Given the description of an element on the screen output the (x, y) to click on. 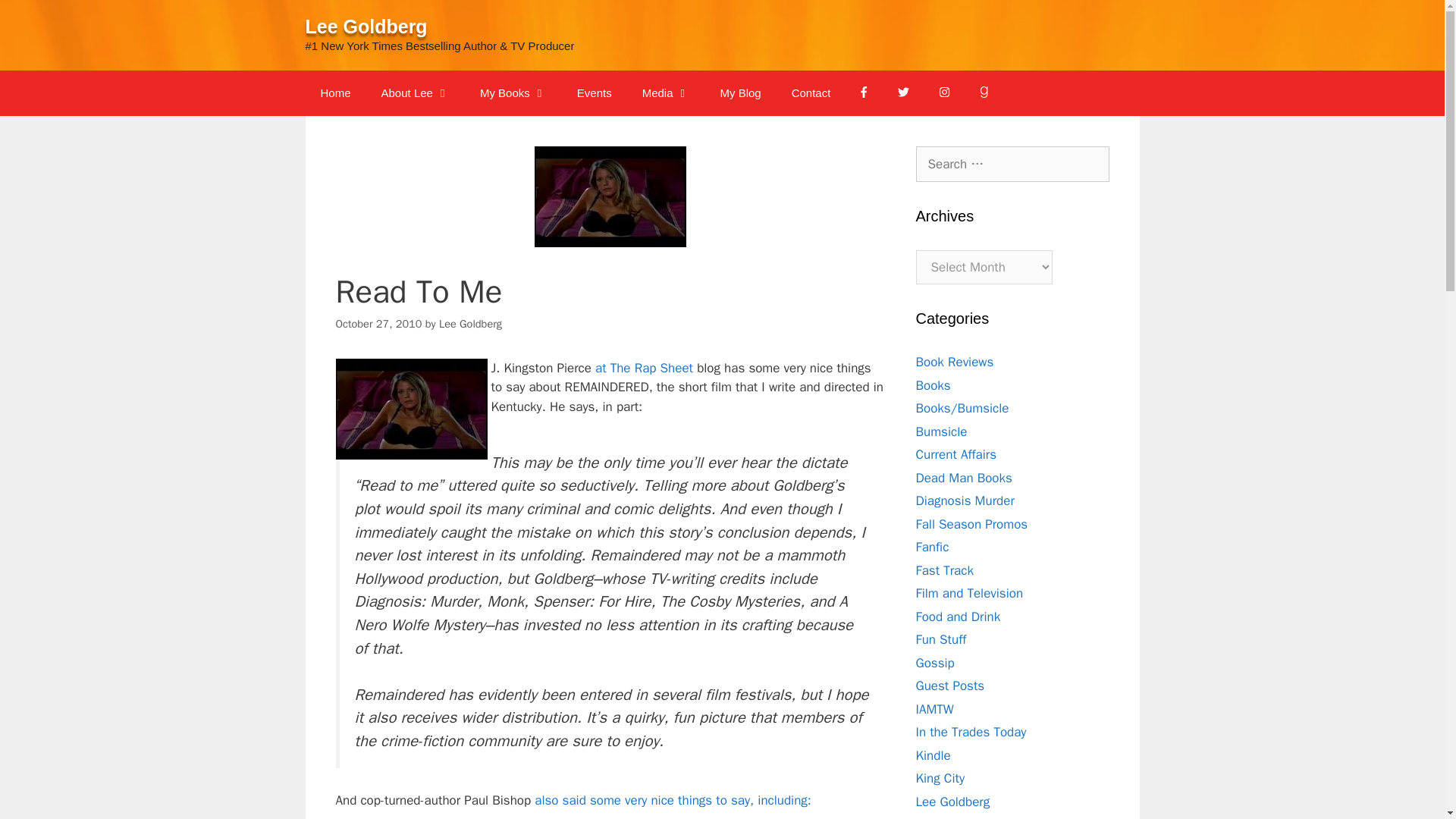
at The Rap Sheet (644, 367)
Search for: (1012, 163)
Lee Goldberg (365, 25)
My Blog (740, 92)
Events (594, 92)
Media (665, 92)
also said some very nice things to say, including: (672, 800)
Home (334, 92)
About Lee (415, 92)
My Books (513, 92)
Contact (810, 92)
Lee Goldberg (470, 323)
View all posts by Lee Goldberg (470, 323)
Megan Bra JPG ver 1 (410, 408)
